Given the description of an element on the screen output the (x, y) to click on. 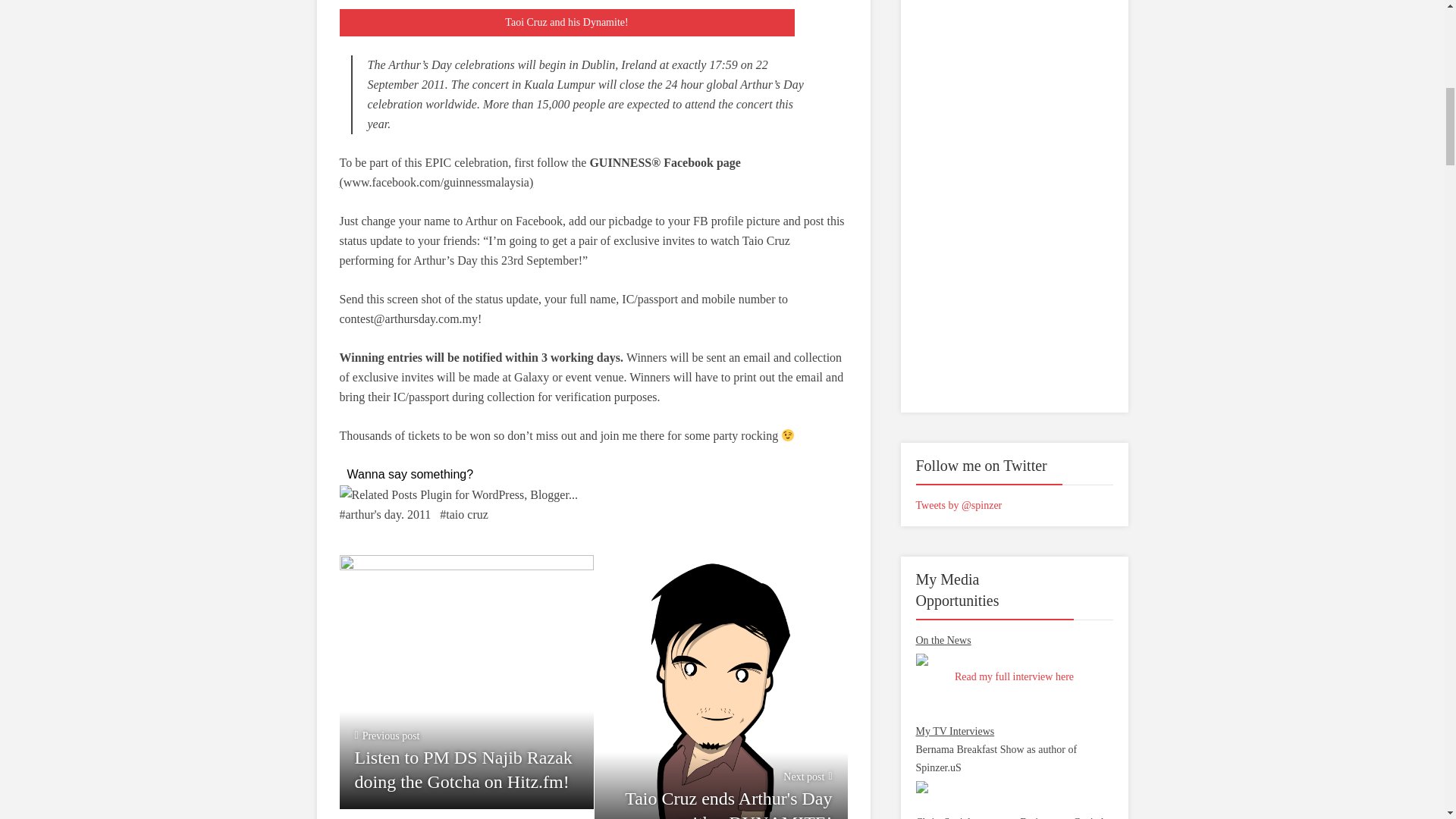
taio cruz (720, 687)
arthur's day. 2011 (463, 514)
